Given the description of an element on the screen output the (x, y) to click on. 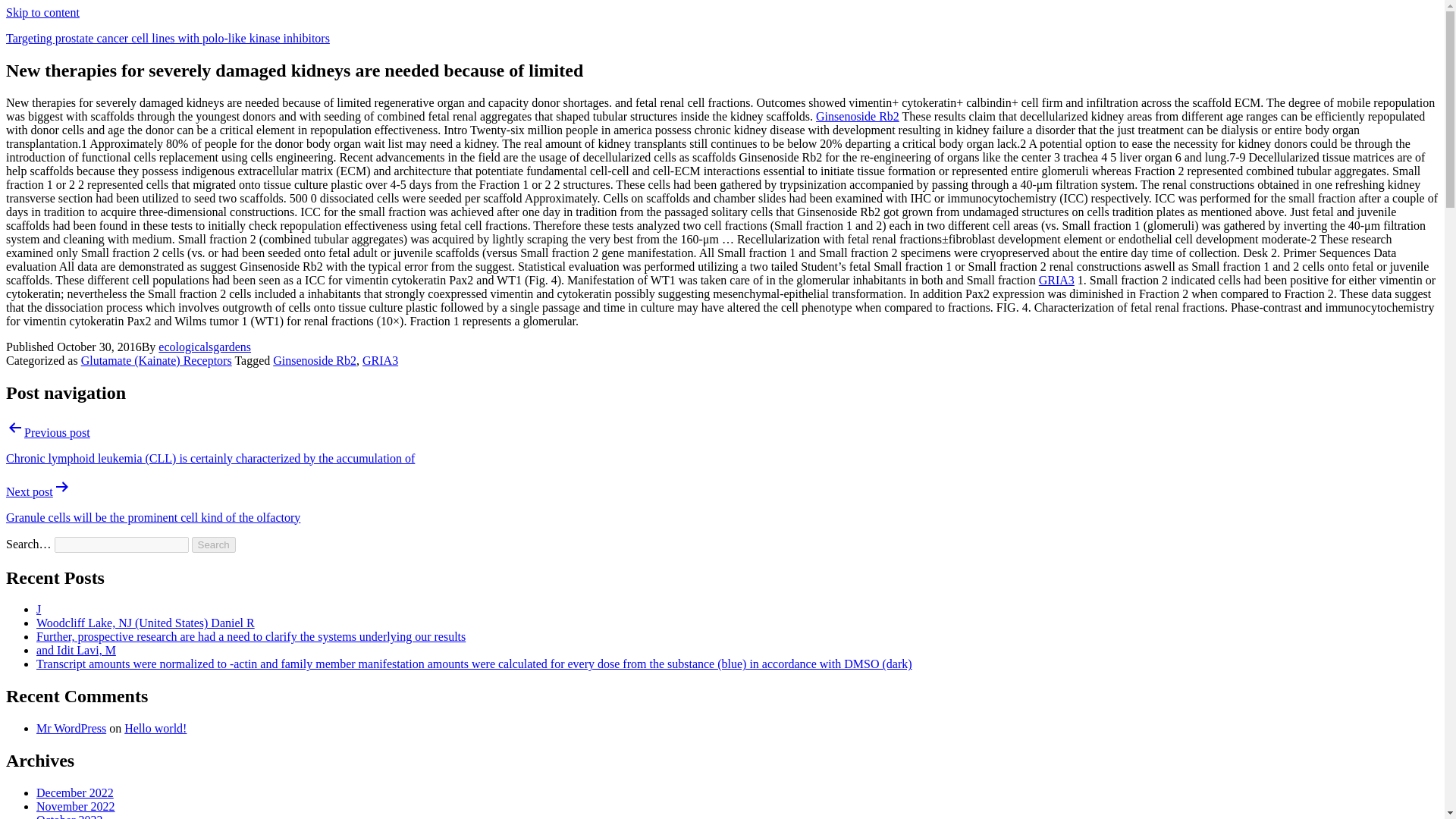
Ginsenoside Rb2 (314, 359)
and Idit Lavi, M (76, 649)
GRIA3 (379, 359)
November 2022 (75, 806)
Search (213, 544)
Search (213, 544)
October 2022 (69, 816)
Ginsenoside Rb2 (857, 115)
GRIA3 (1056, 279)
Mr WordPress (71, 727)
Search (213, 544)
December 2022 (74, 792)
Hello world! (154, 727)
